Given the description of an element on the screen output the (x, y) to click on. 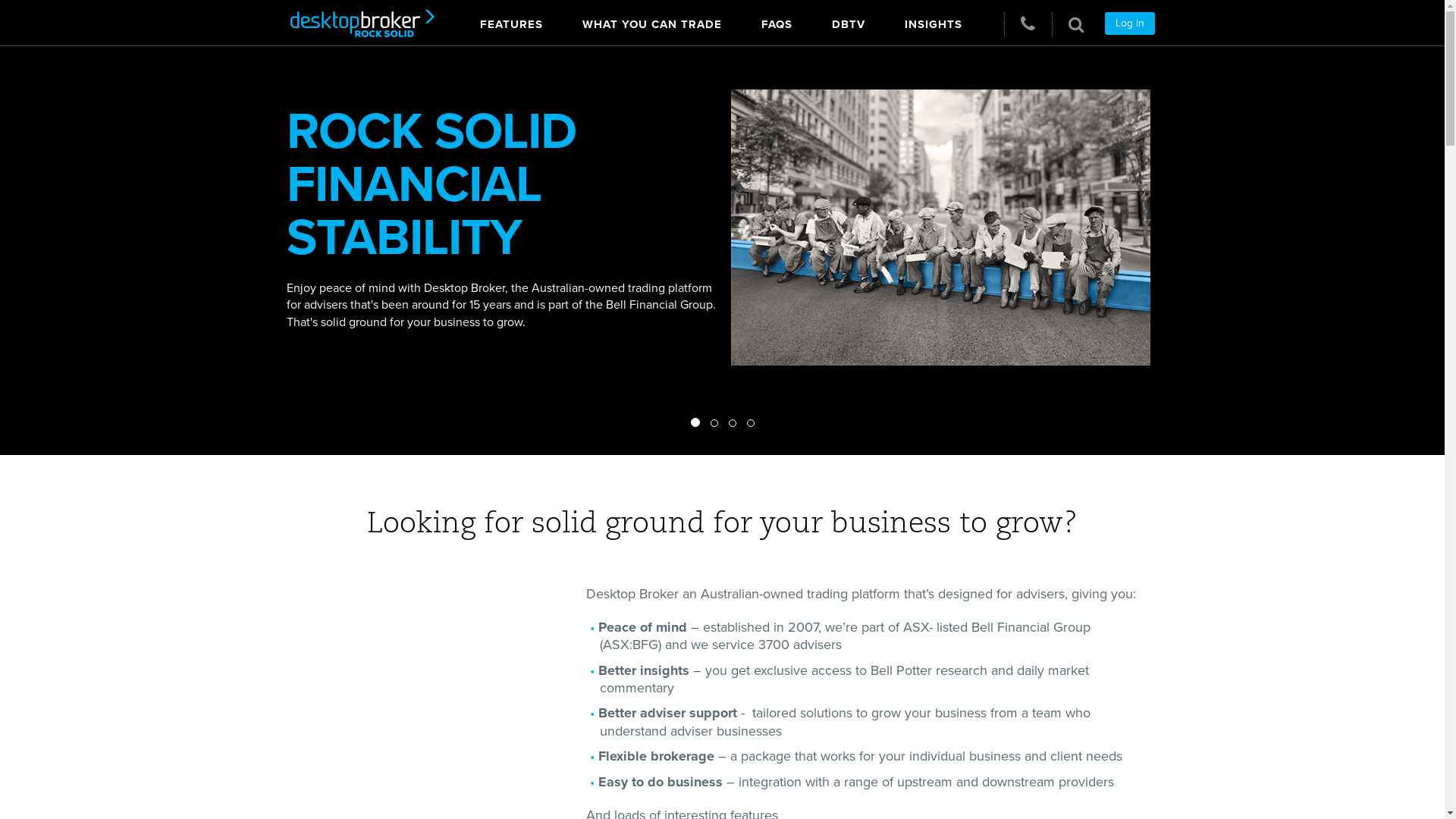
FAQS Element type: text (776, 20)
INSIGHTS Element type: text (932, 20)
Contact Support Element type: hover (1027, 24)
Search Element type: hover (1075, 24)
Return Home Element type: hover (356, 22)
Log in Element type: text (1129, 23)
FEATURES Element type: text (510, 20)
DBTV Element type: text (847, 20)
WHAT YOU CAN TRADE Element type: text (651, 20)
